Given the description of an element on the screen output the (x, y) to click on. 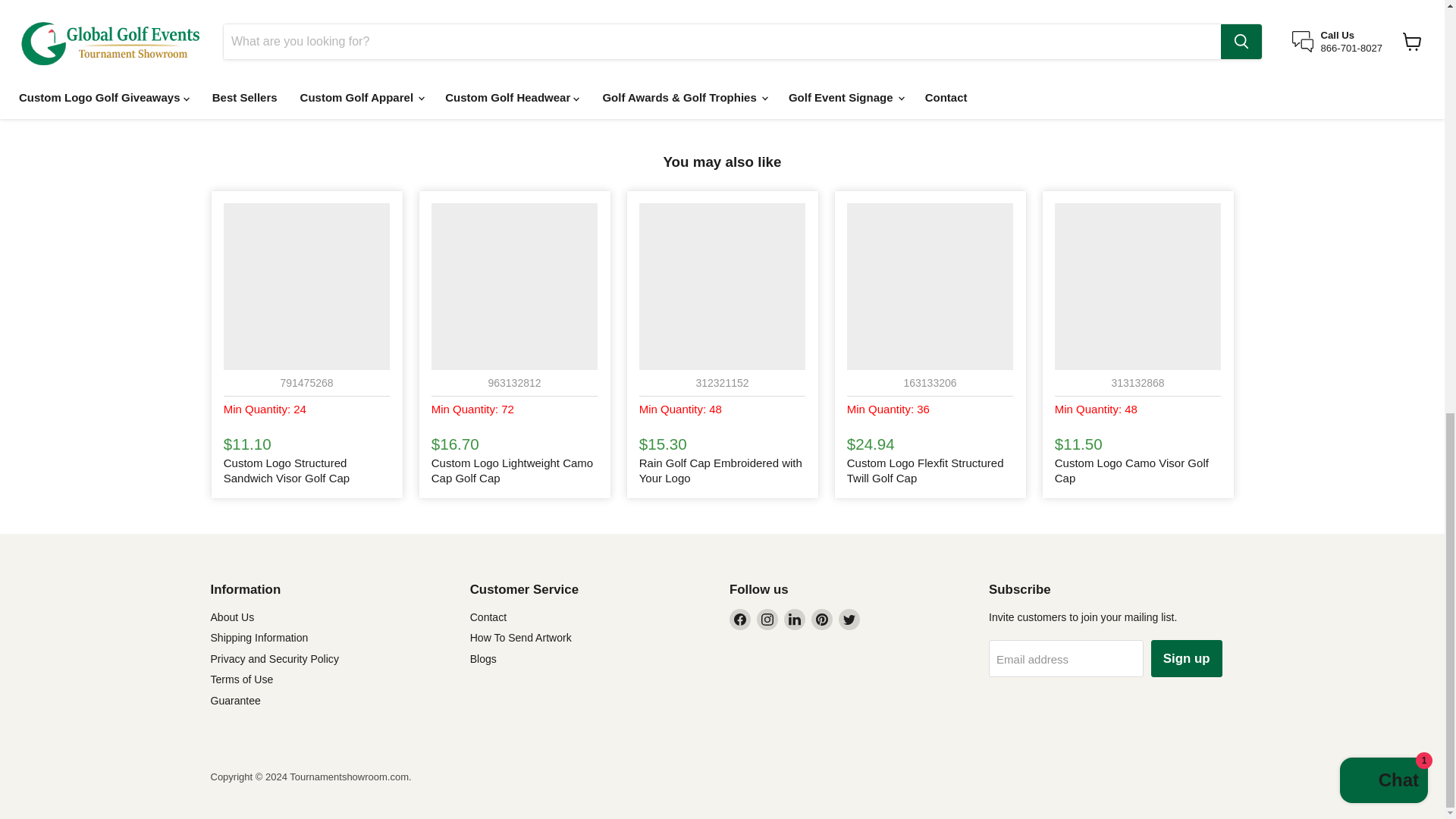
Twitter (849, 619)
Instagram (767, 619)
Pinterest (821, 619)
LinkedIn (794, 619)
Facebook (740, 619)
